Given the description of an element on the screen output the (x, y) to click on. 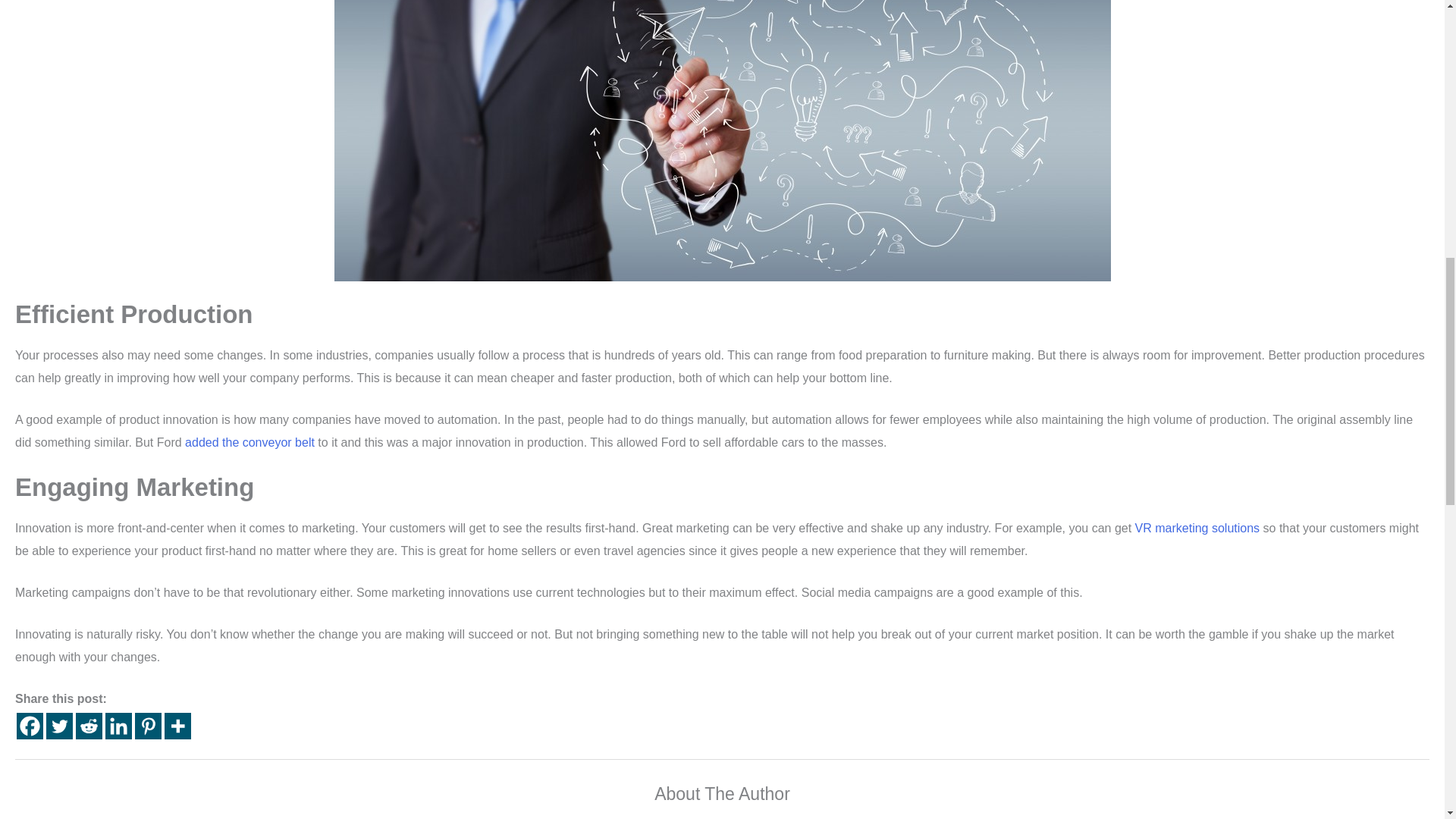
VR marketing solutions (1199, 527)
Twitter (59, 725)
Linkedin (118, 725)
More (177, 725)
Facebook (29, 725)
Pinterest (148, 725)
Reddit (88, 725)
added the conveyor belt (249, 441)
